Given the description of an element on the screen output the (x, y) to click on. 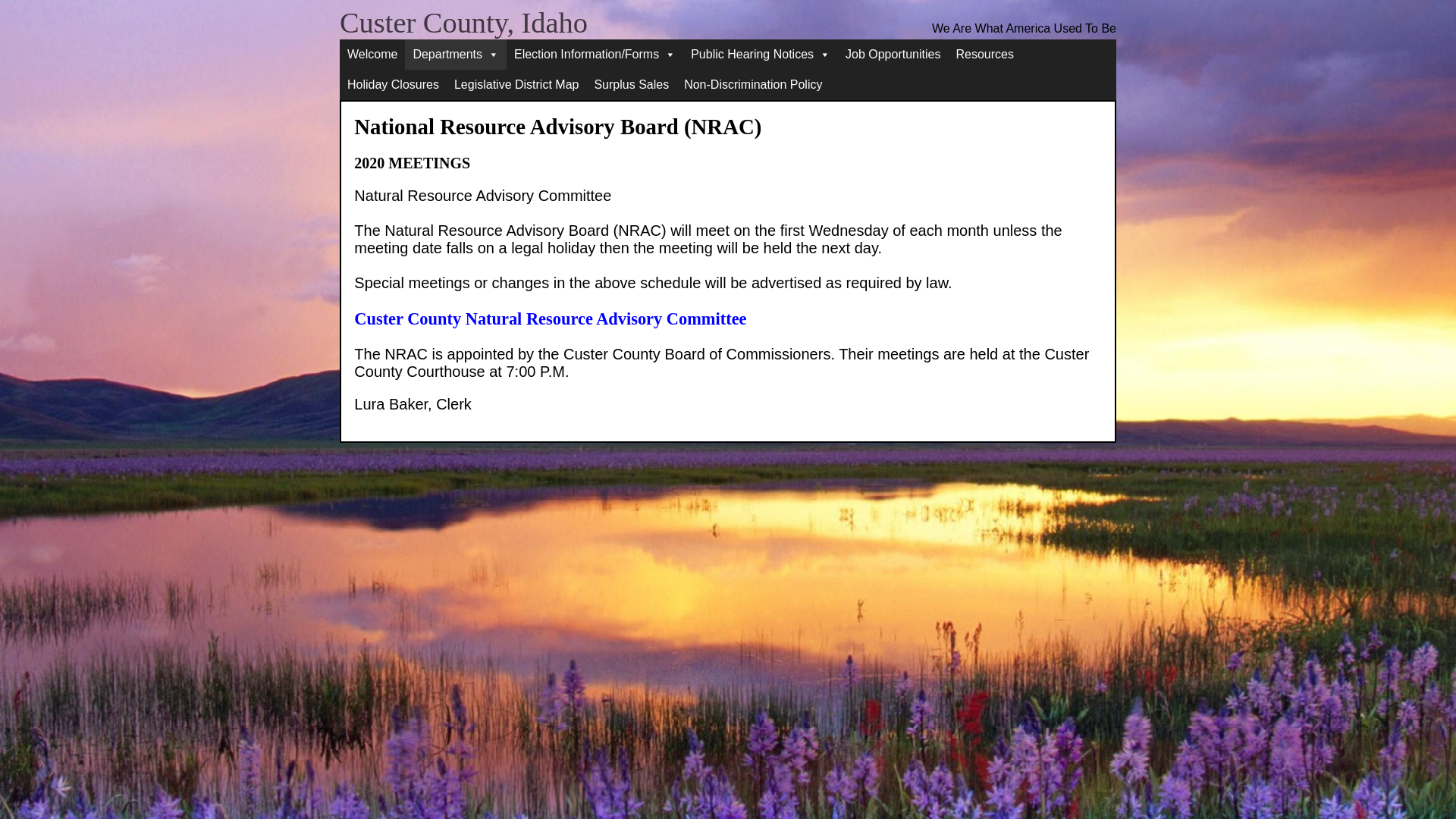
Departments (455, 54)
Custer County, Idaho (463, 22)
Welcome (371, 54)
Custer County, Idaho (463, 22)
Skip to content (360, 122)
